Given the description of an element on the screen output the (x, y) to click on. 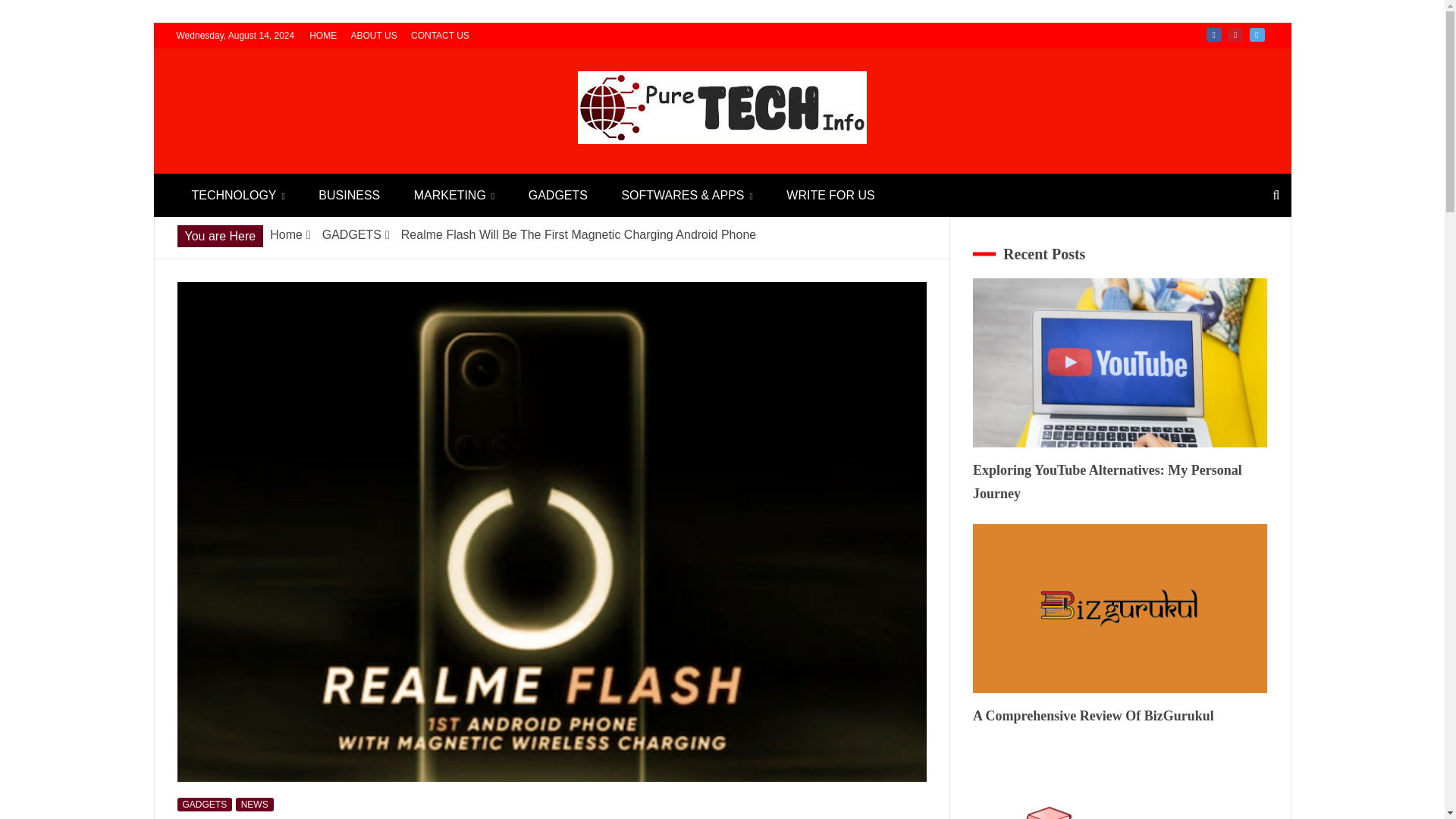
Menu Item (1235, 34)
GADGETS (204, 804)
Menu Item (1214, 34)
HOME (322, 35)
Menu Item (1257, 34)
Home (285, 234)
NEWS (254, 804)
ABOUT US (373, 35)
GADGETS (557, 195)
